Given the description of an element on the screen output the (x, y) to click on. 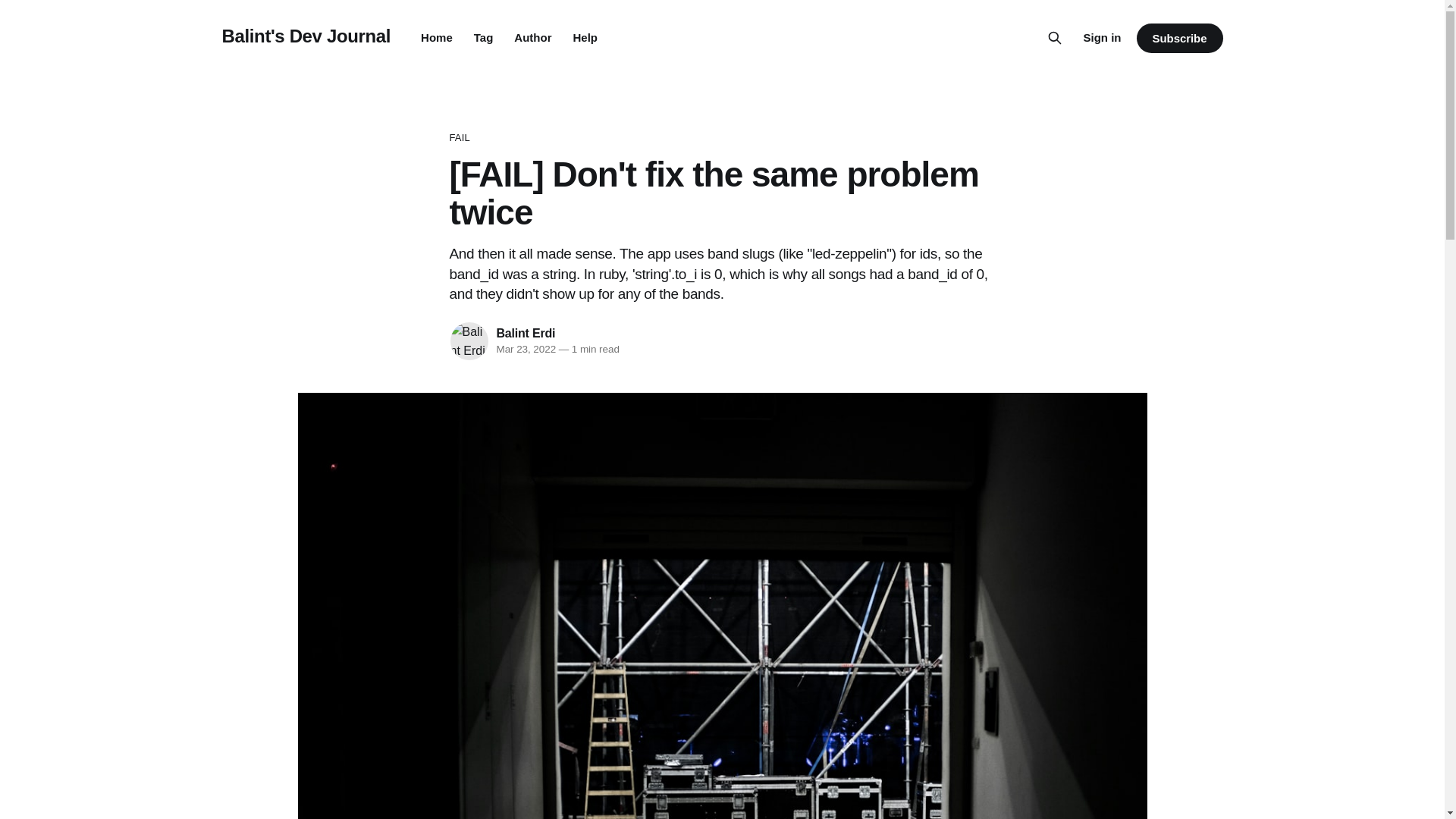
Sign in (1102, 37)
Balint's Dev Journal (305, 35)
Balint Erdi (525, 332)
Help (584, 37)
Home (436, 37)
Author (532, 37)
FAIL (721, 138)
Tag (483, 37)
Subscribe (1179, 37)
